Given the description of an element on the screen output the (x, y) to click on. 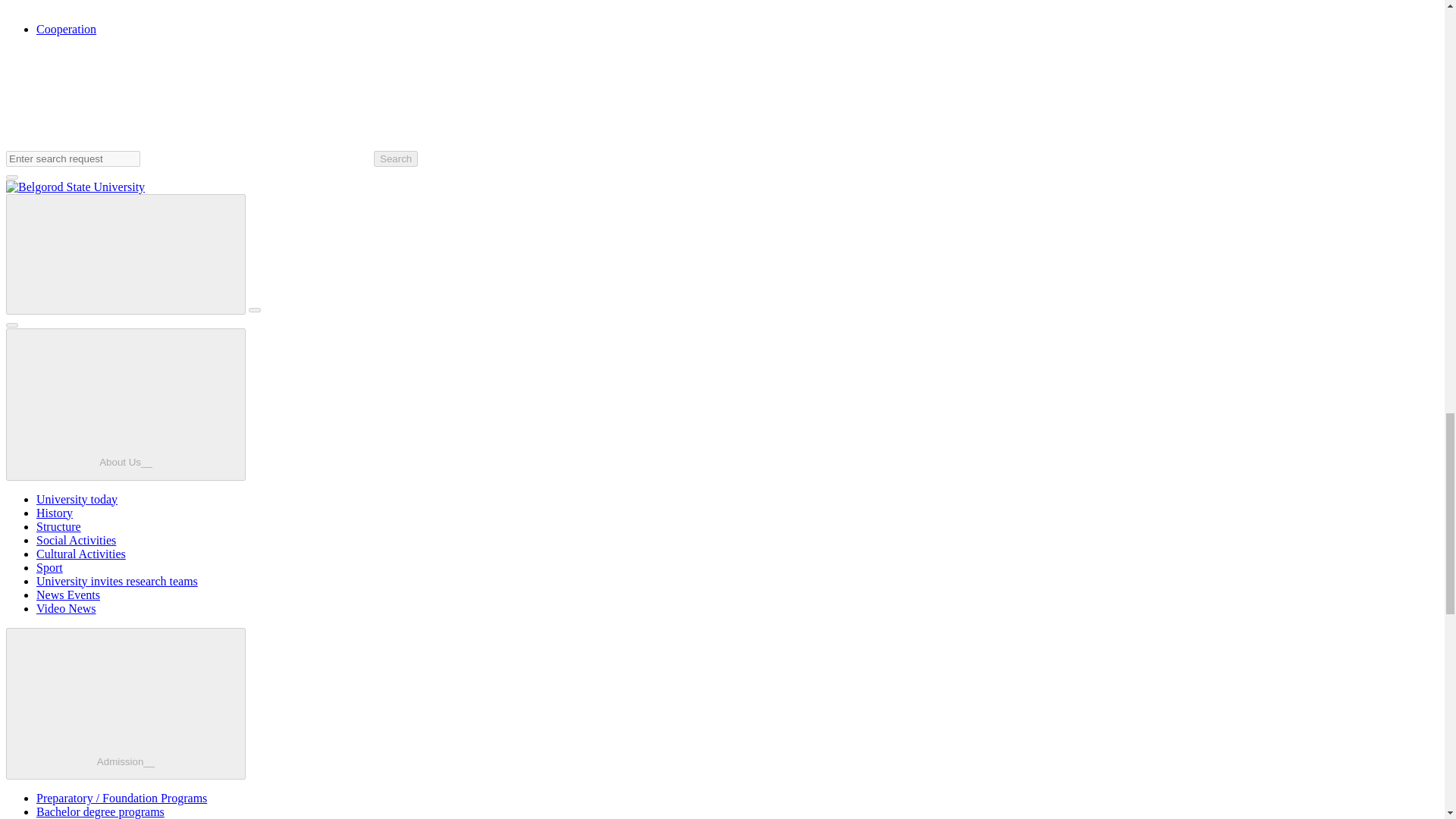
University invites research teams (117, 581)
Video News (66, 608)
University today (76, 499)
Cooperation (66, 29)
Search (395, 158)
Structure (58, 526)
Bachelor degree programs (100, 811)
History (54, 512)
Social Activities (76, 540)
Sport (49, 567)
